Given the description of an element on the screen output the (x, y) to click on. 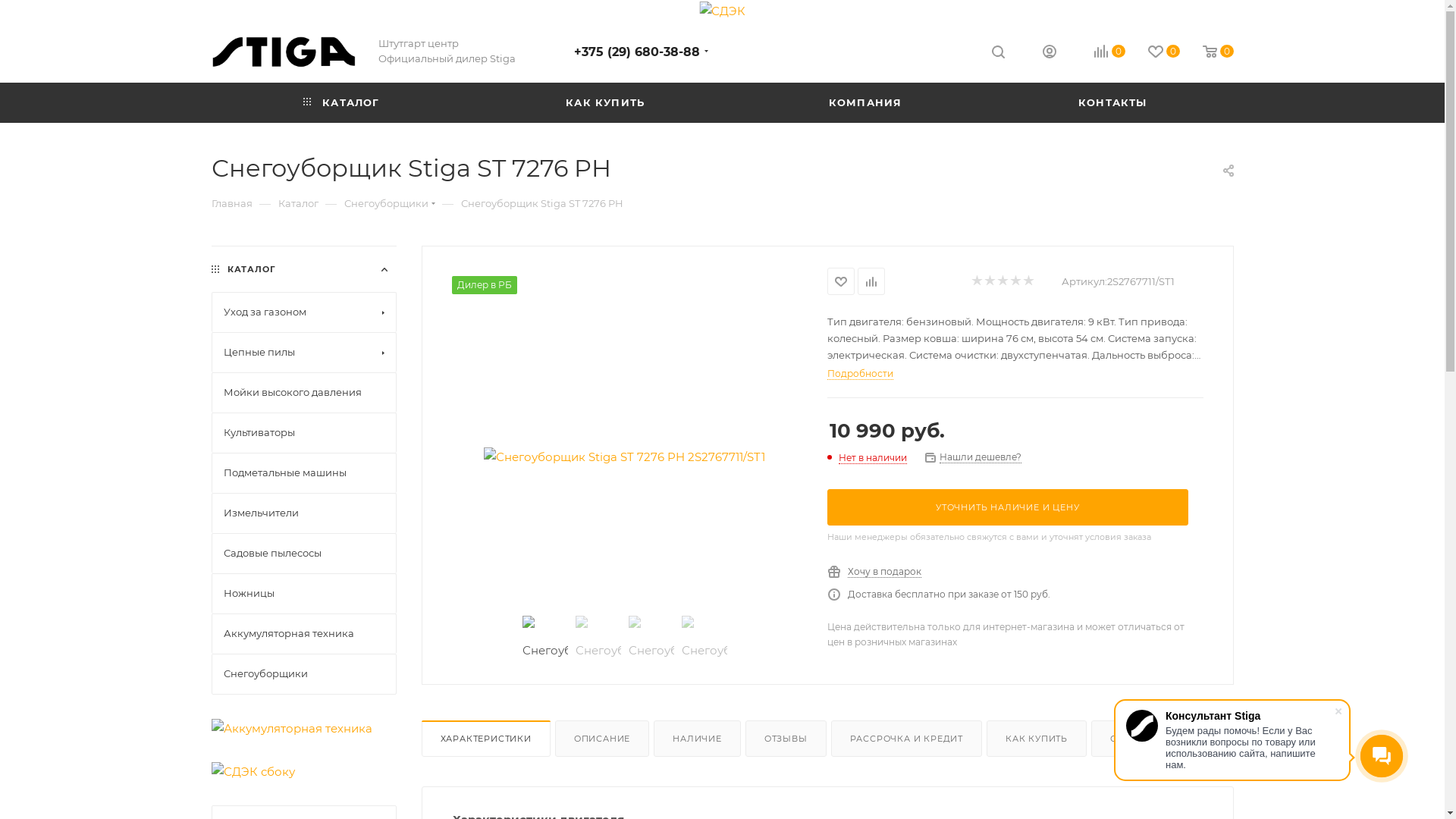
+375 (29) 680-38-88 Element type: text (636, 51)
0 Element type: text (1152, 52)
0 Element type: text (1097, 52)
0 Element type: text (1206, 52)
stiga.com.by Element type: hover (282, 51)
